Given the description of an element on the screen output the (x, y) to click on. 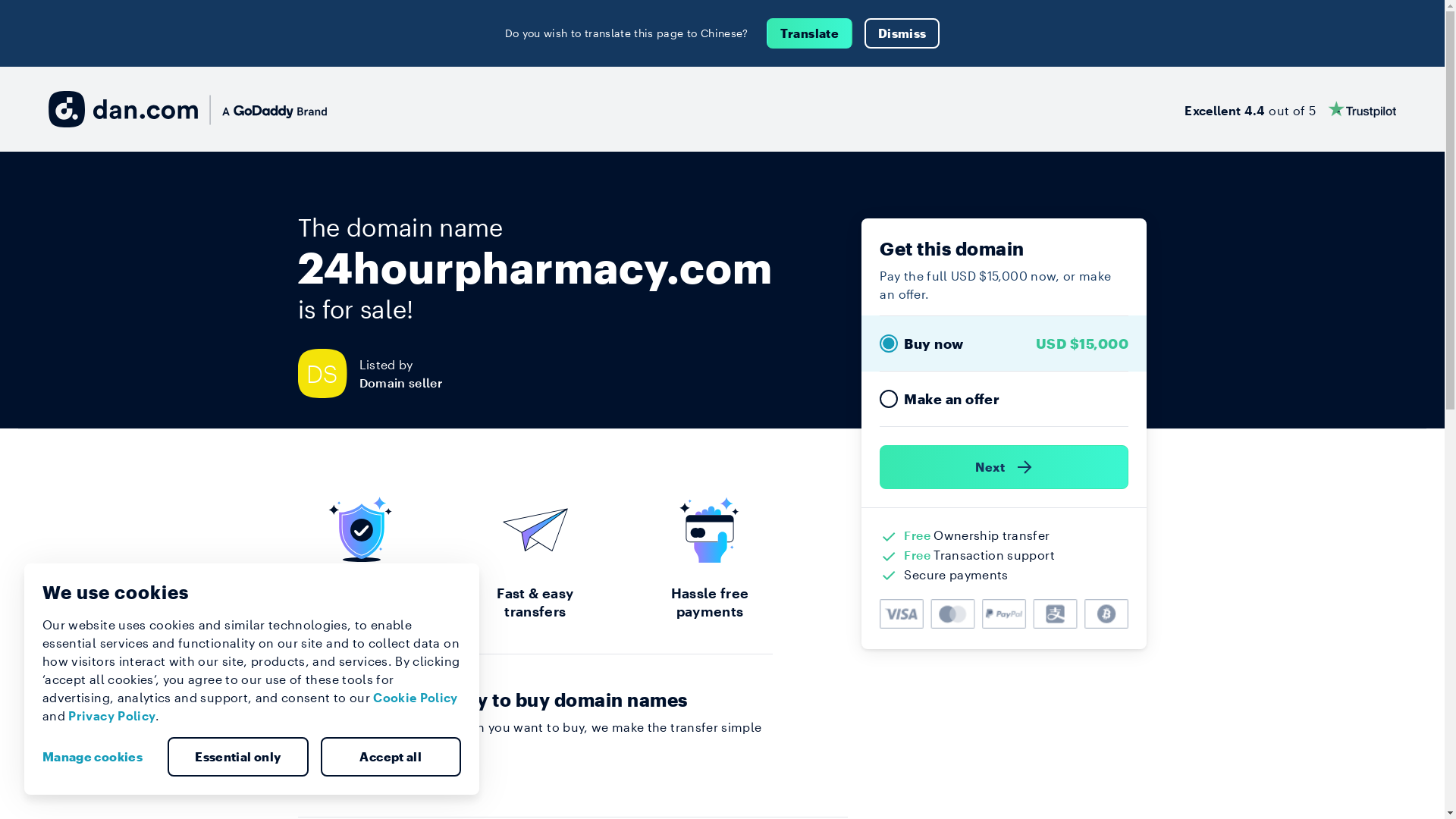
Dismiss Element type: text (901, 33)
Excellent 4.4 out of 5 Element type: text (1290, 109)
Accept all Element type: text (390, 756)
Manage cookies Element type: text (98, 756)
Privacy Policy Element type: text (111, 715)
DS Element type: text (327, 373)
Essential only Element type: text (237, 756)
Translate Element type: text (809, 33)
Next
) Element type: text (1003, 467)
Cookie Policy Element type: text (415, 697)
